Given the description of an element on the screen output the (x, y) to click on. 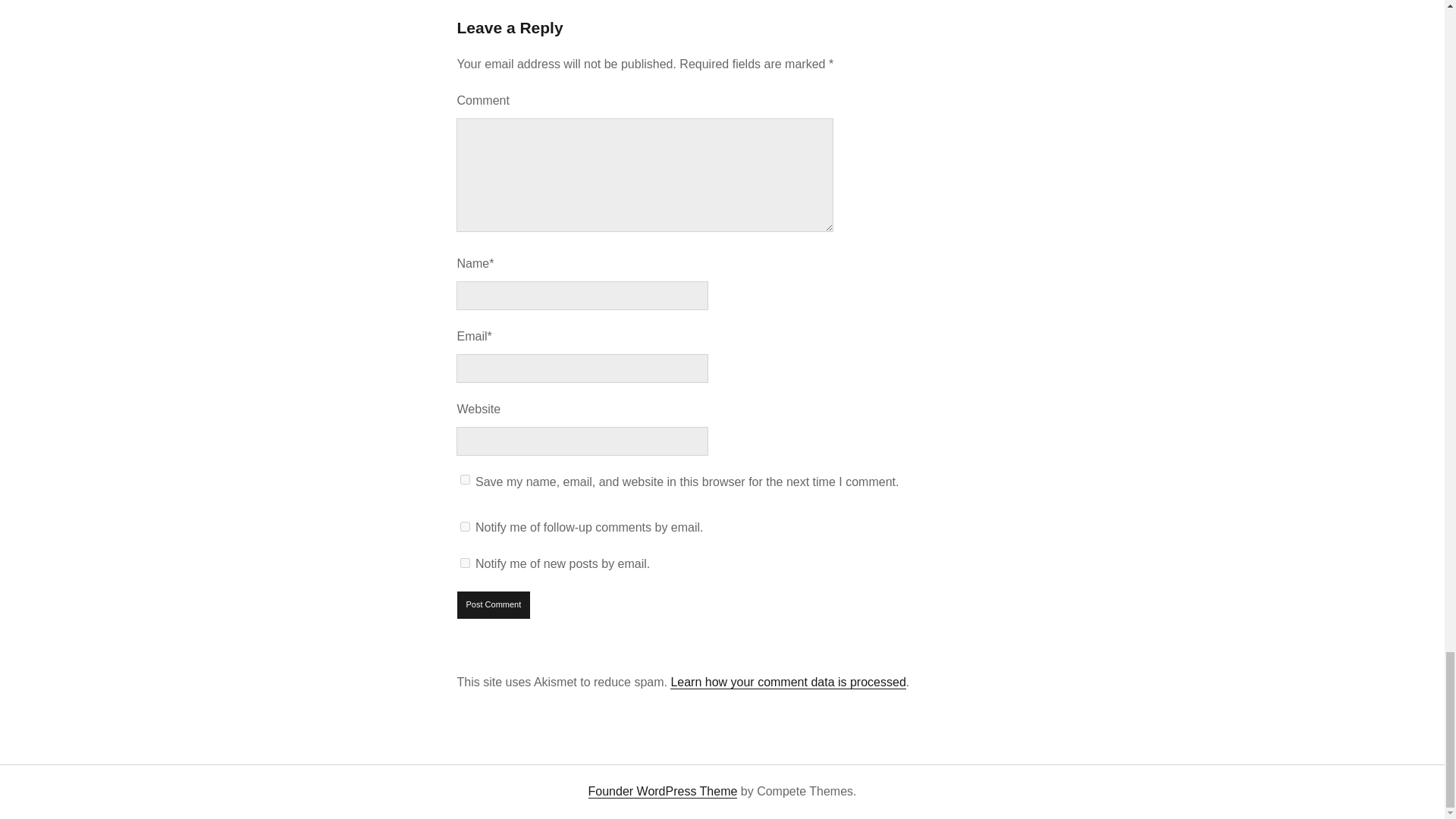
yes (465, 479)
subscribe (465, 562)
Post Comment (494, 605)
subscribe (465, 526)
